Given the description of an element on the screen output the (x, y) to click on. 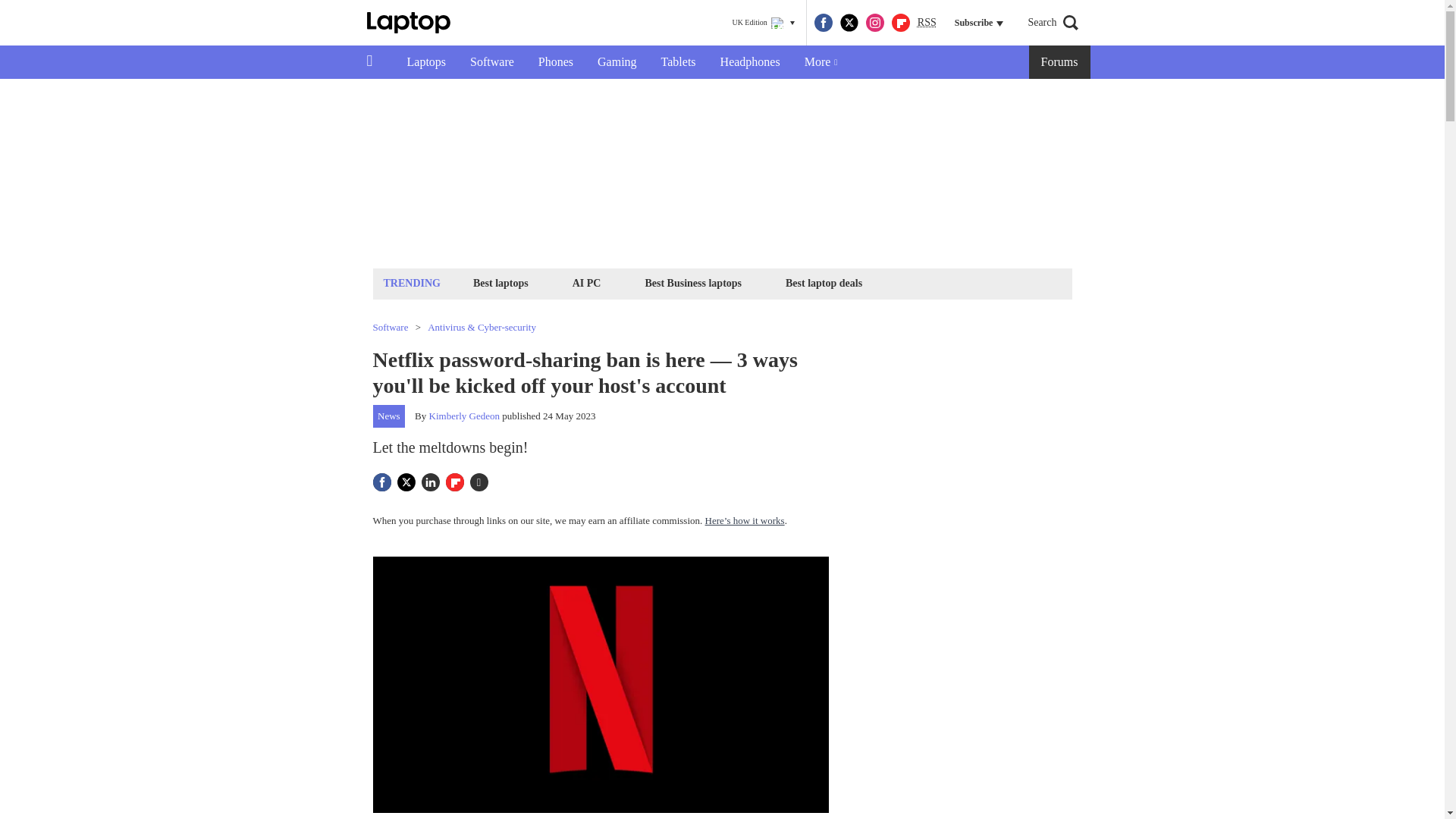
Software (491, 61)
Phones (555, 61)
Forums (1059, 61)
RSS (926, 22)
Best laptops (500, 282)
AI PC (587, 282)
Headphones (749, 61)
Tablets (678, 61)
Best Business laptops (692, 282)
Really Simple Syndication (926, 21)
Gaming (617, 61)
Laptops (426, 61)
Best laptop deals (823, 282)
UK Edition (762, 22)
